Given the description of an element on the screen output the (x, y) to click on. 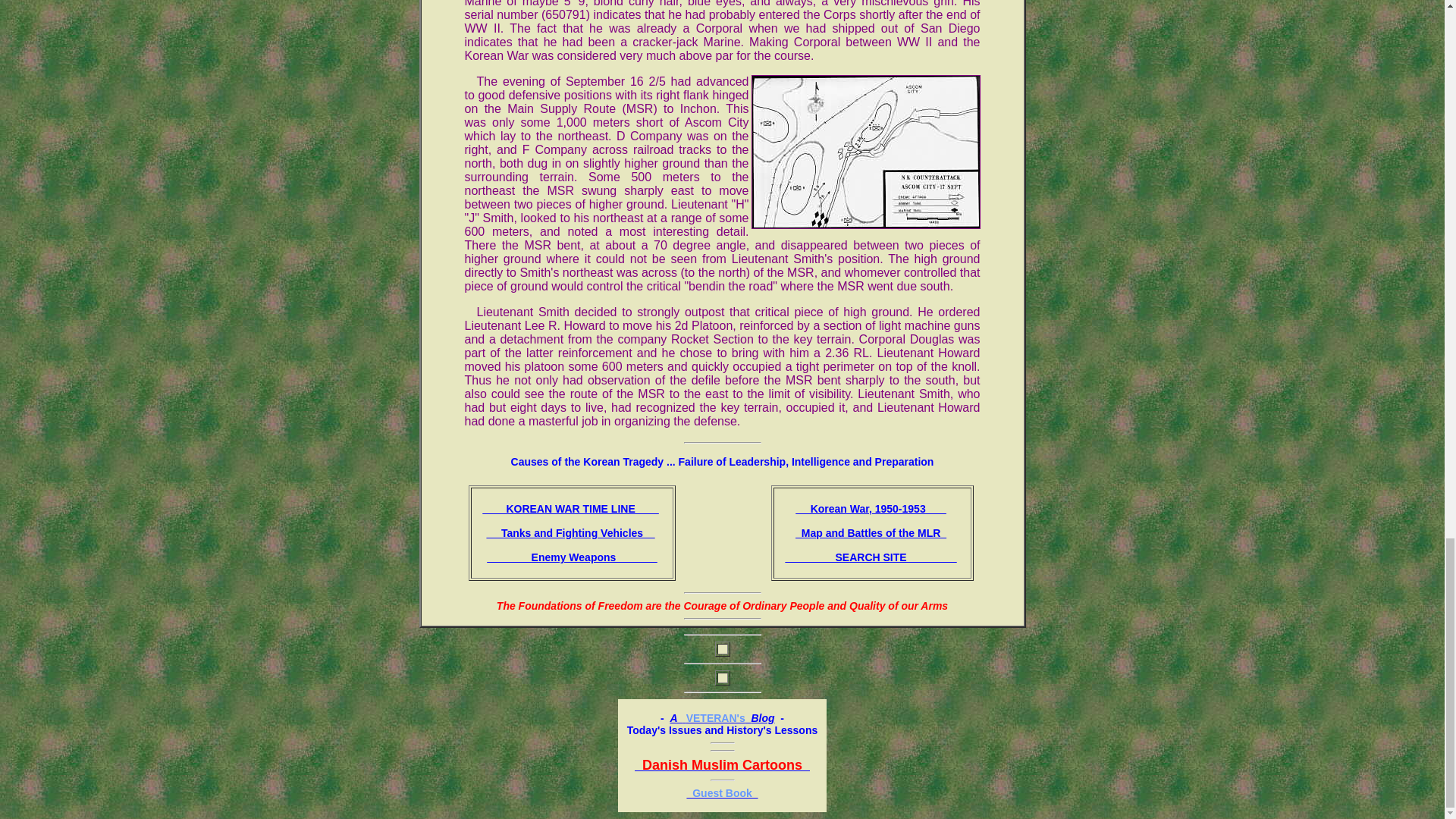
               Enemy Weapons               (572, 557)
  Danish Muslim Cartoons   (721, 765)
     Tanks and Fighting Vehicles     (569, 532)
     Korean War, 1950-1953        (870, 508)
  Map and Battles of the MLR   (870, 532)
  Guest Book   (721, 793)
        KOREAN WAR TIME LINE         (570, 508)
                 SEARCH SITE                  (870, 557)
A   VETERAN's  Blog (721, 717)
